Given the description of an element on the screen output the (x, y) to click on. 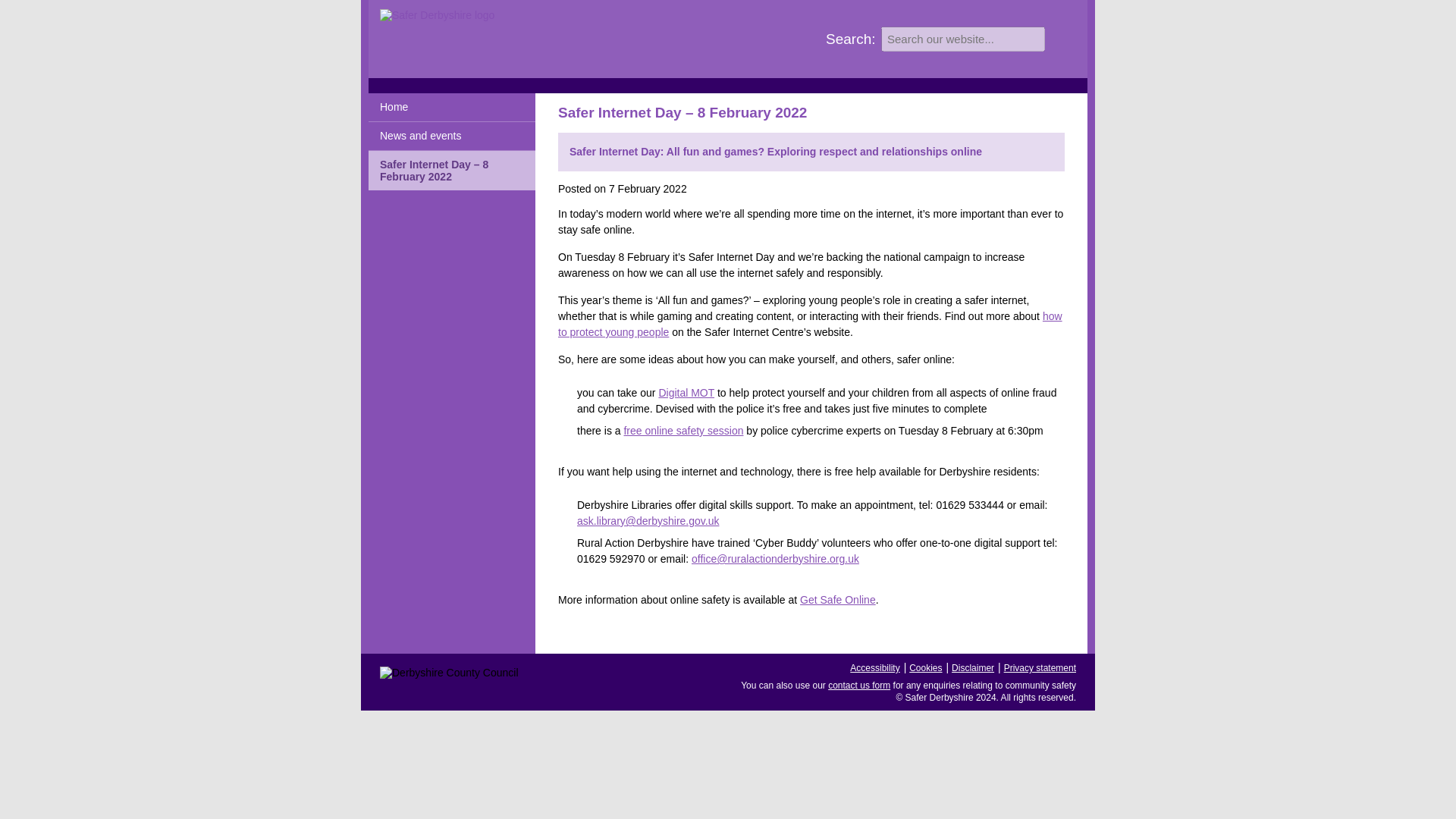
Digital MOT (686, 392)
Police cybercrime event on Eventbrite booking website (682, 430)
Get Safe Online (837, 599)
Disclaimer (973, 667)
Search (1059, 38)
Search (1059, 38)
Accessibility (874, 667)
Derbyshire Library Information Service (647, 521)
contact us form (858, 685)
Welcome to your Digital MOT (686, 392)
Search our website... (962, 38)
free online safety session (682, 430)
News and events (451, 136)
Cookies (925, 667)
Search (1059, 38)
